Given the description of an element on the screen output the (x, y) to click on. 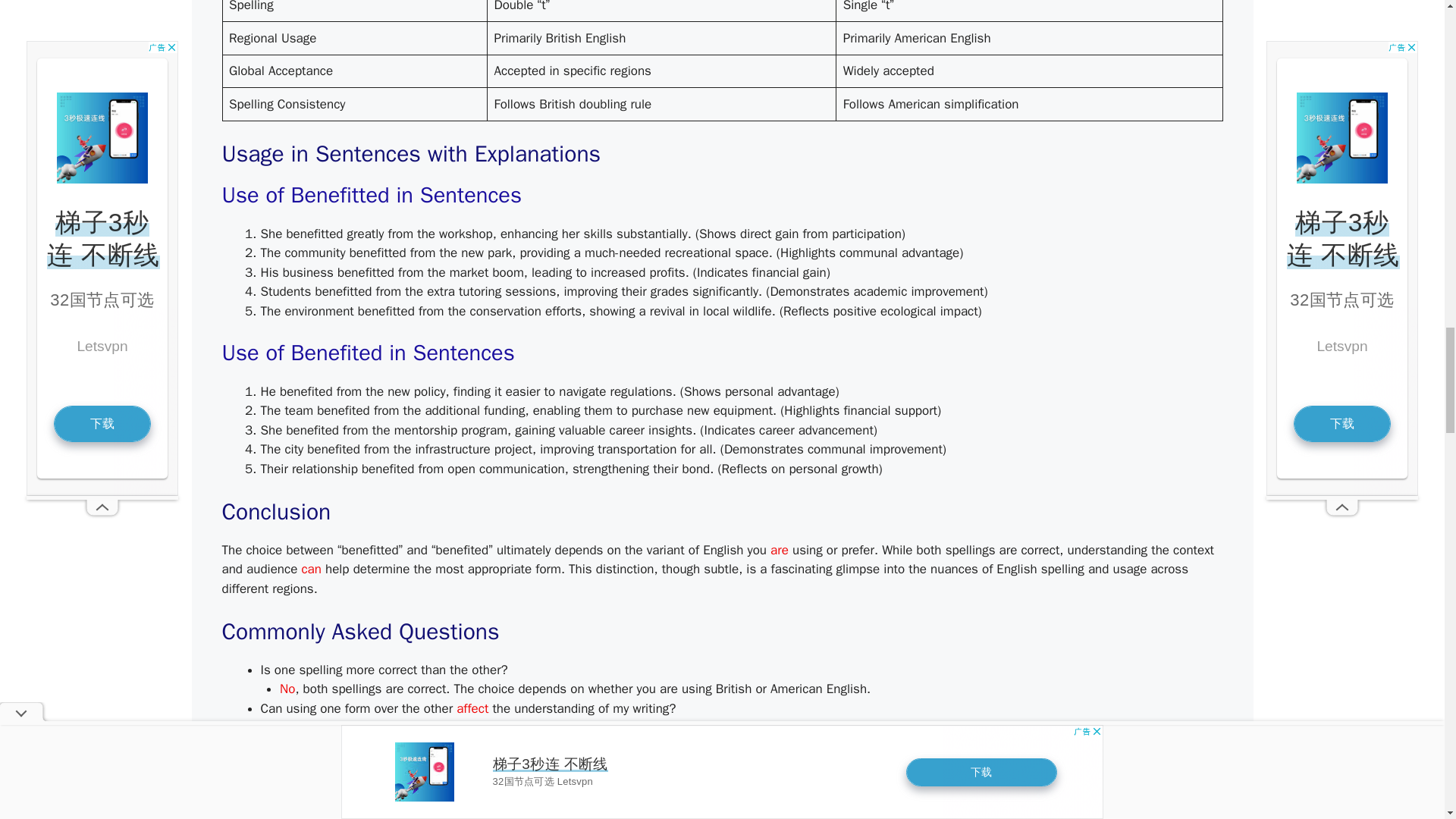
are (779, 549)
No (287, 688)
can (310, 569)
